Given the description of an element on the screen output the (x, y) to click on. 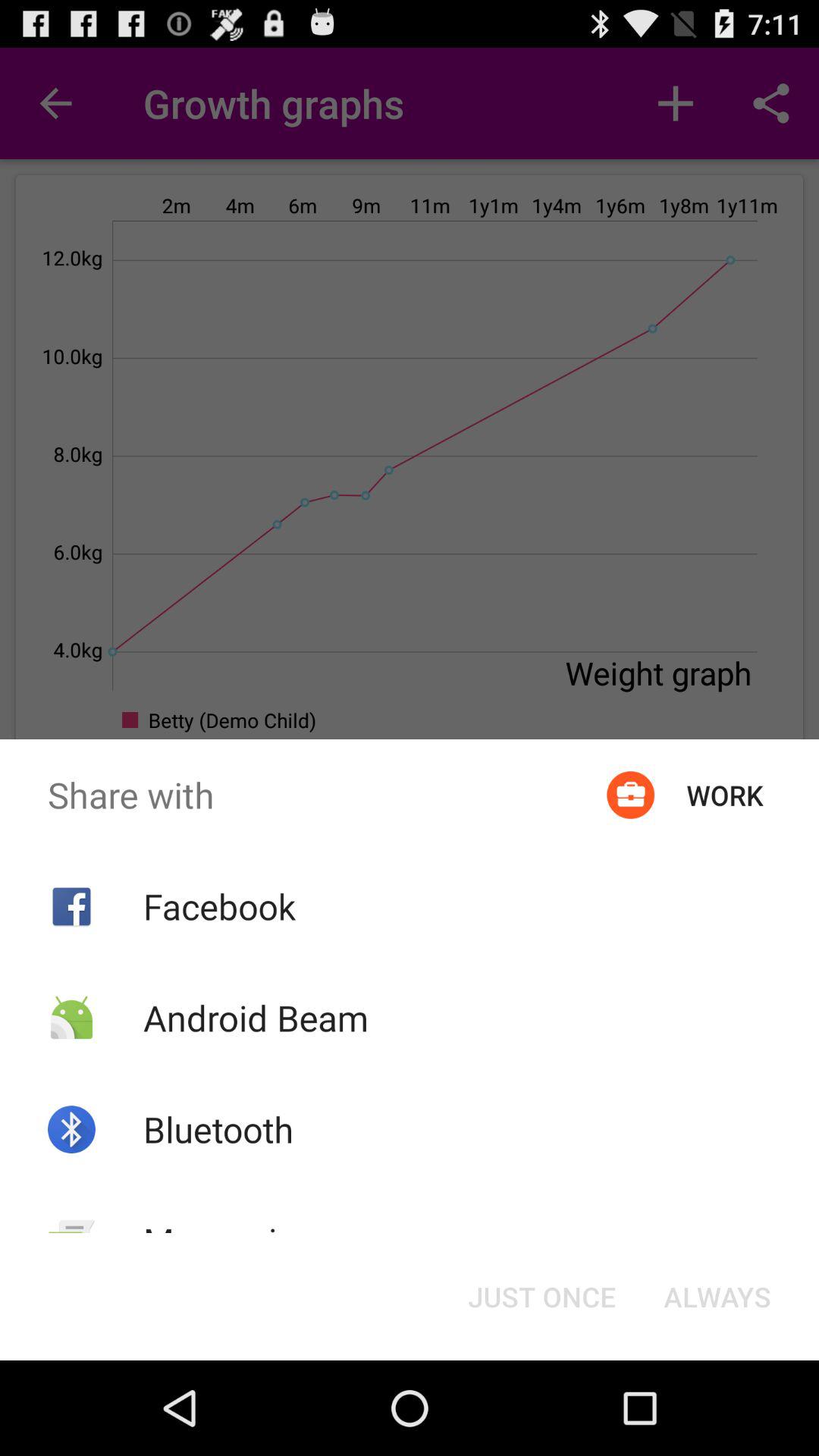
press the bluetooth (218, 1129)
